Given the description of an element on the screen output the (x, y) to click on. 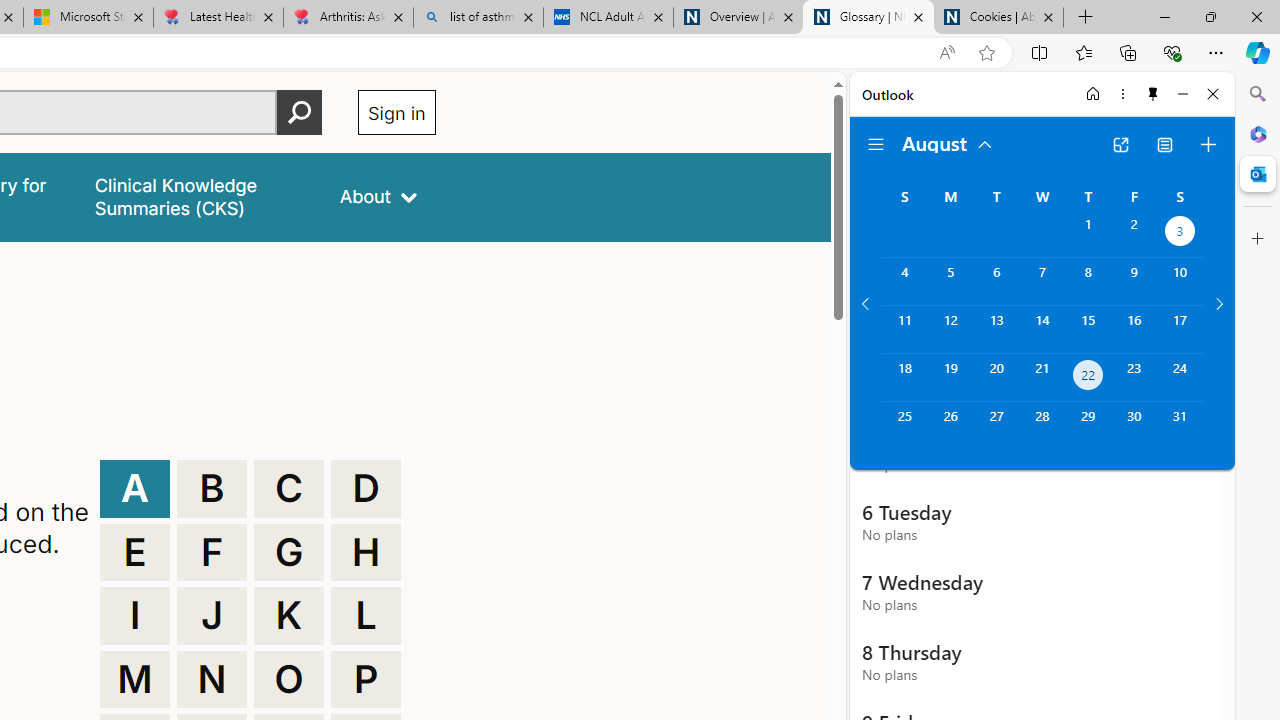
Monday, August 5, 2024.  (950, 281)
Monday, August 26, 2024.  (950, 425)
Thursday, August 15, 2024.  (1088, 329)
C (289, 488)
Saturday, August 24, 2024.  (1180, 377)
Friday, August 16, 2024.  (1134, 329)
Thursday, August 22, 2024. Today.  (1088, 377)
Saturday, August 3, 2024. Date selected.  (1180, 233)
Cookies | About | NICE (998, 17)
